Given the description of an element on the screen output the (x, y) to click on. 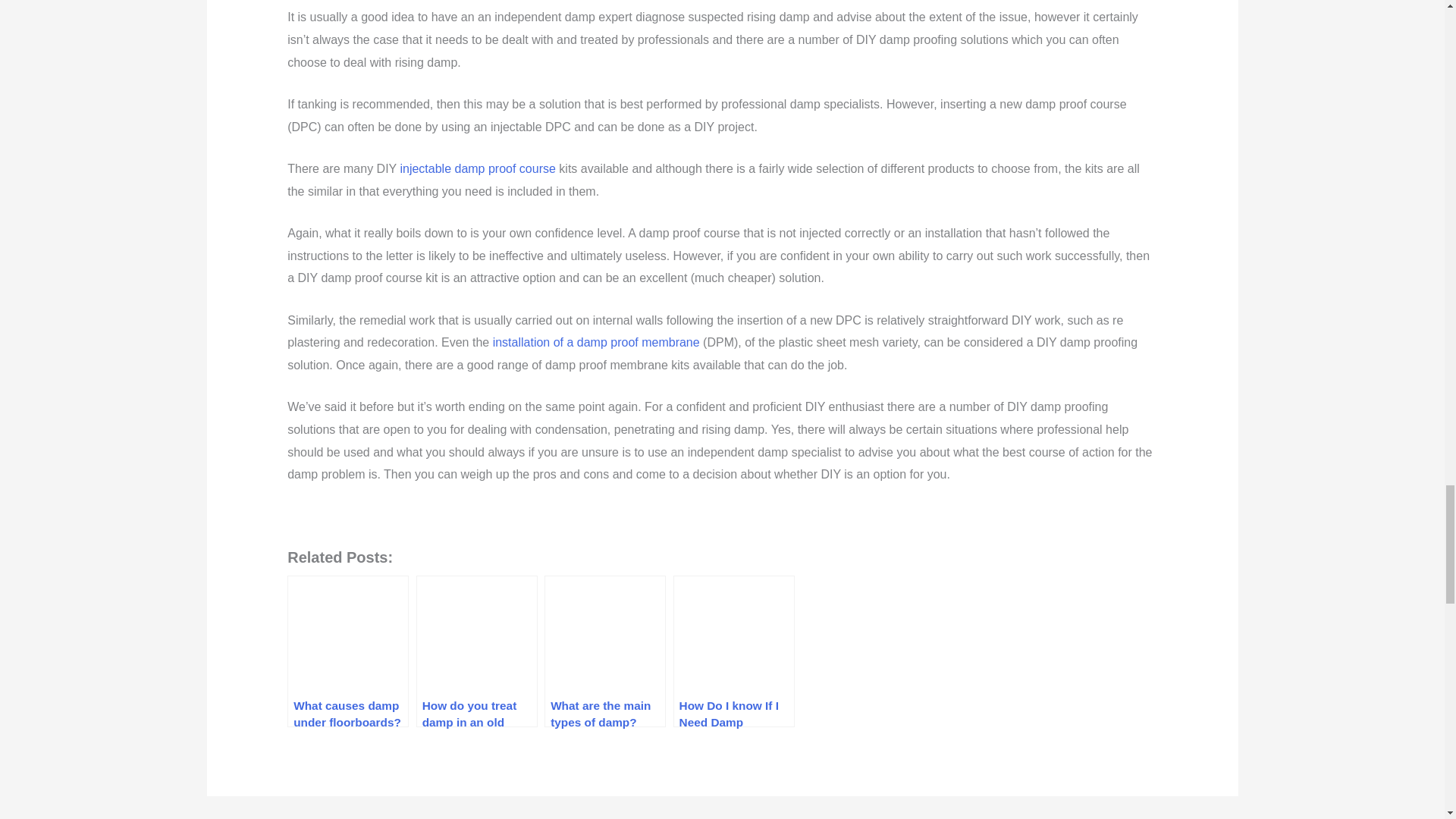
What causes damp under floorboards? (347, 651)
How do you treat damp in an old house? (476, 651)
How Do I know If I Need Damp Proofing? 4 Tell-Tale Signs (733, 651)
installation of a damp proof membrane (596, 341)
injectable damp proof course (476, 168)
How do you treat damp in an old house? (476, 651)
What causes damp under floorboards? (347, 651)
How Do I know If I Need Damp Proofing? 4 Tell-Tale Signs (733, 651)
